Given the description of an element on the screen output the (x, y) to click on. 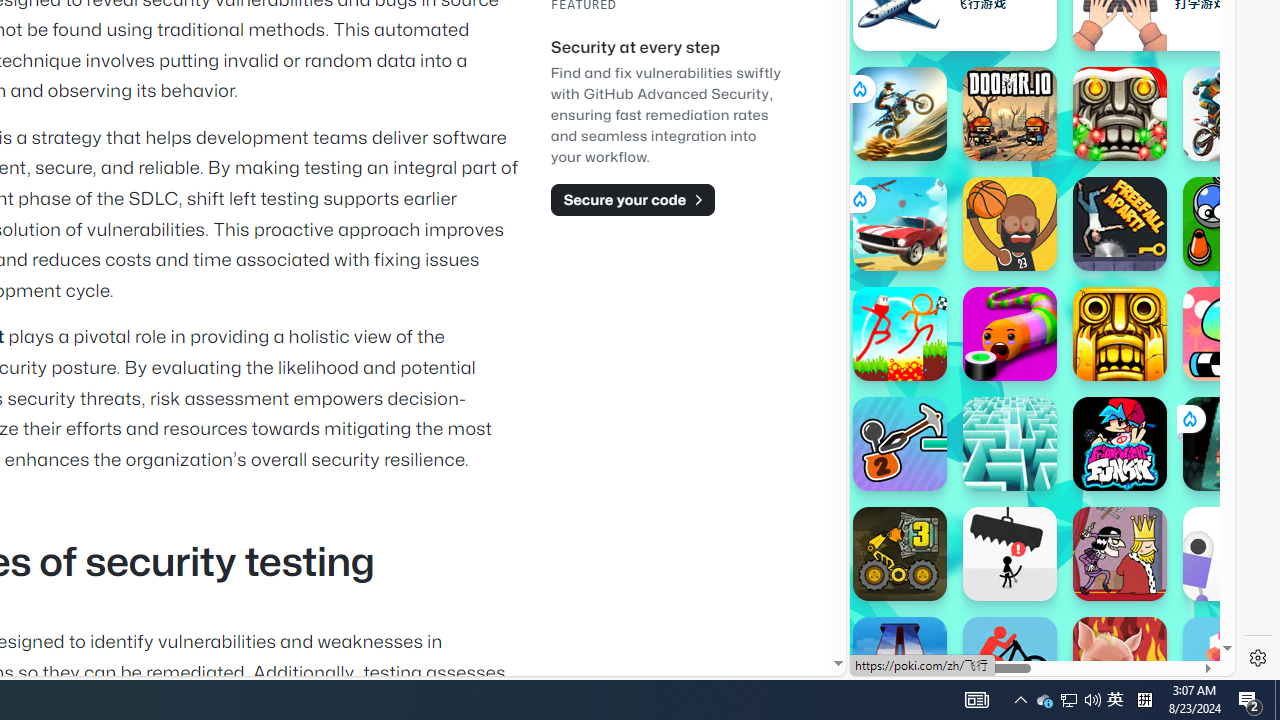
Avoid Dying Avoid Dying (1009, 553)
Stickman Bike Stickman Bike (1009, 664)
Dunkers 2 Dunkers 2 (1009, 223)
Trial Mania Trial Mania (1229, 113)
Quivershot (1229, 443)
Friday Night Funkin' Friday Night Funkin' (1119, 443)
Dunkers 2 (1009, 223)
Big Tower Tiny Square 2 Big Tower Tiny Square 2 (899, 664)
